Given the description of an element on the screen output the (x, y) to click on. 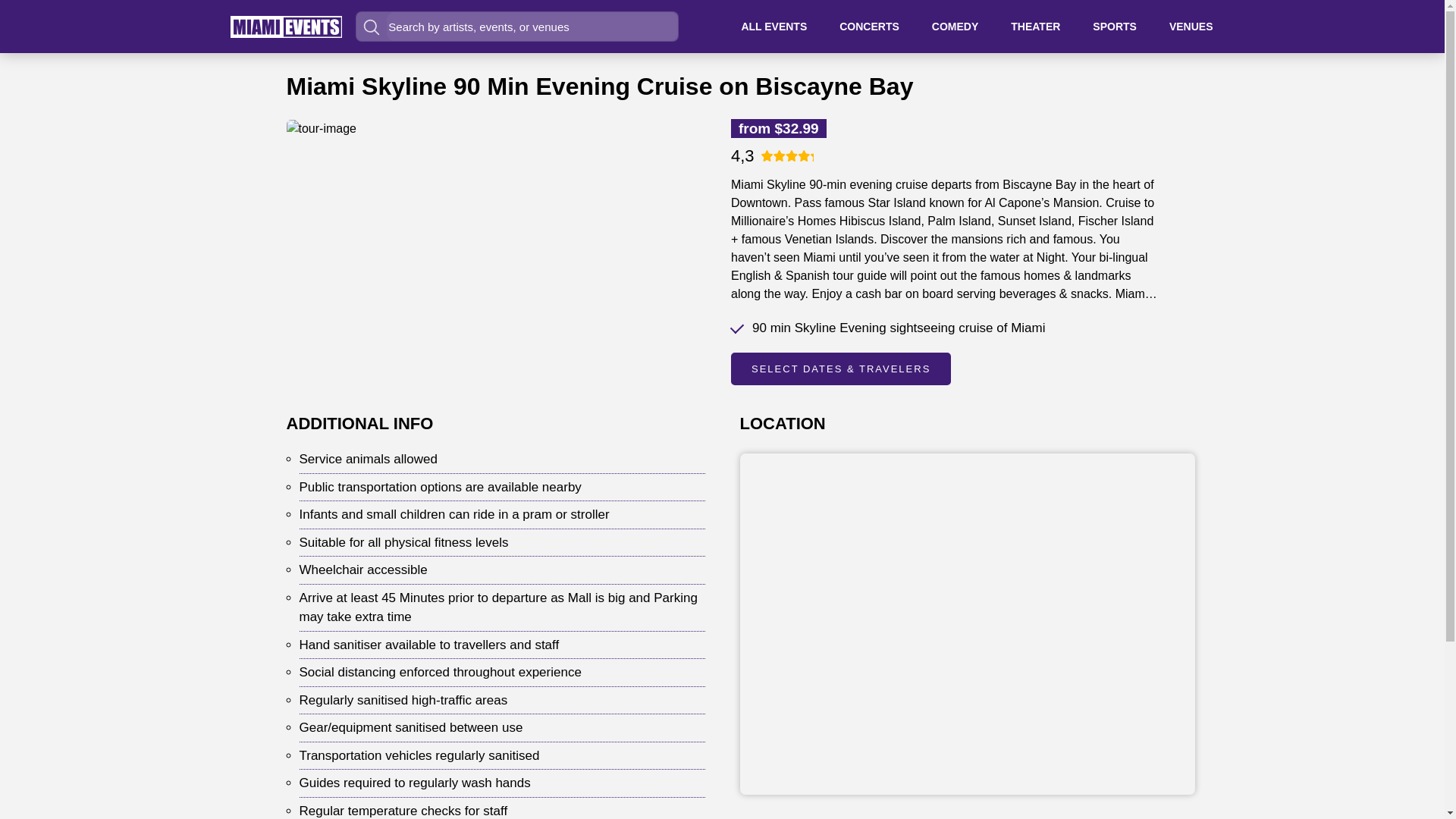
COMEDY (954, 26)
ALL EVENTS (773, 26)
THEATER (1034, 26)
VENUES (1190, 26)
CONCERTS (869, 26)
SPORTS (1115, 26)
